Given the description of an element on the screen output the (x, y) to click on. 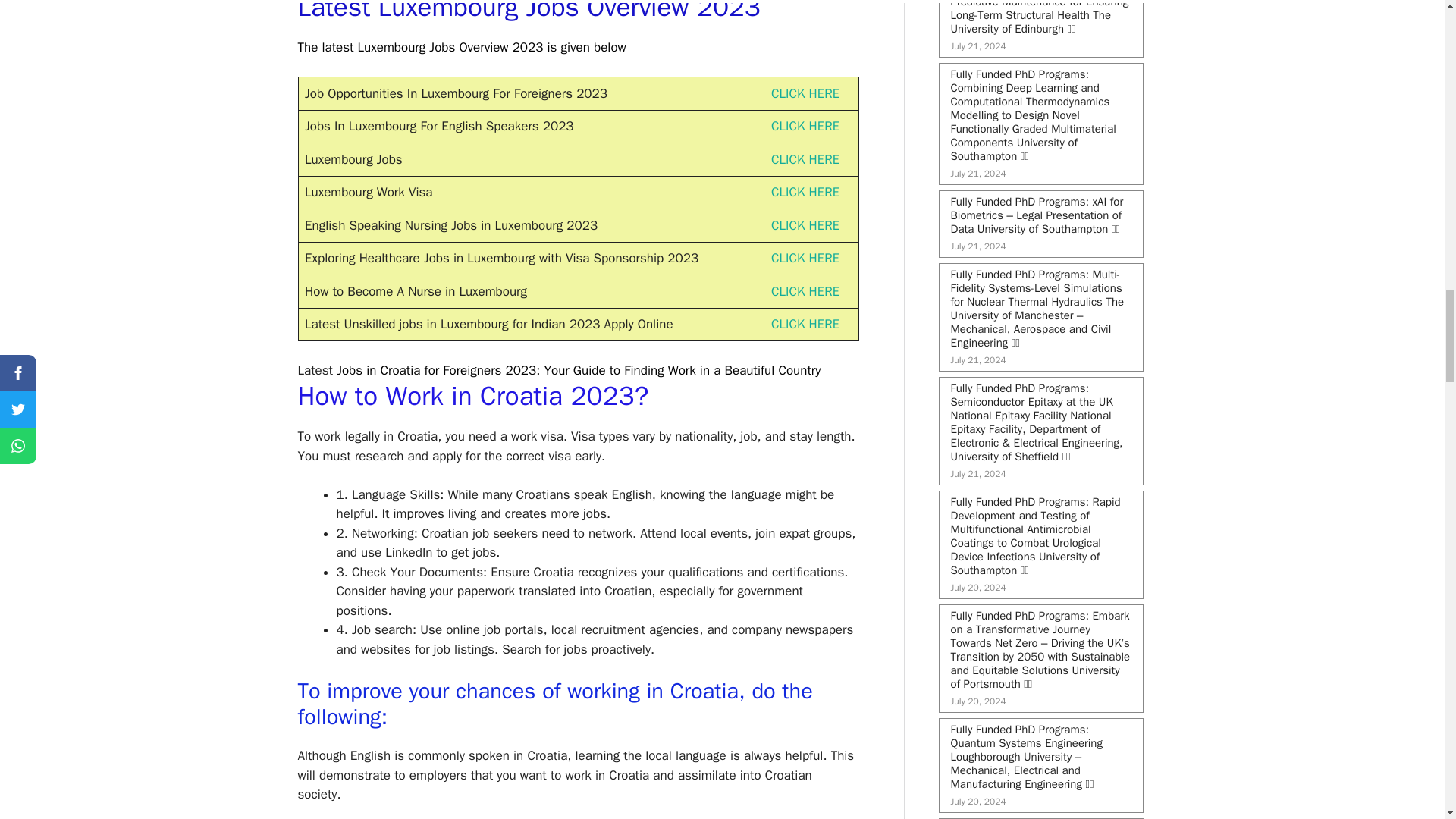
CLICK HERE (805, 324)
CLICK HERE (805, 159)
CLICK HERE (805, 225)
CLICK HERE (805, 93)
CLICK HERE (805, 258)
CLICK HERE (805, 291)
CLICK HERE (805, 191)
CLICK HERE (805, 125)
